Given the description of an element on the screen output the (x, y) to click on. 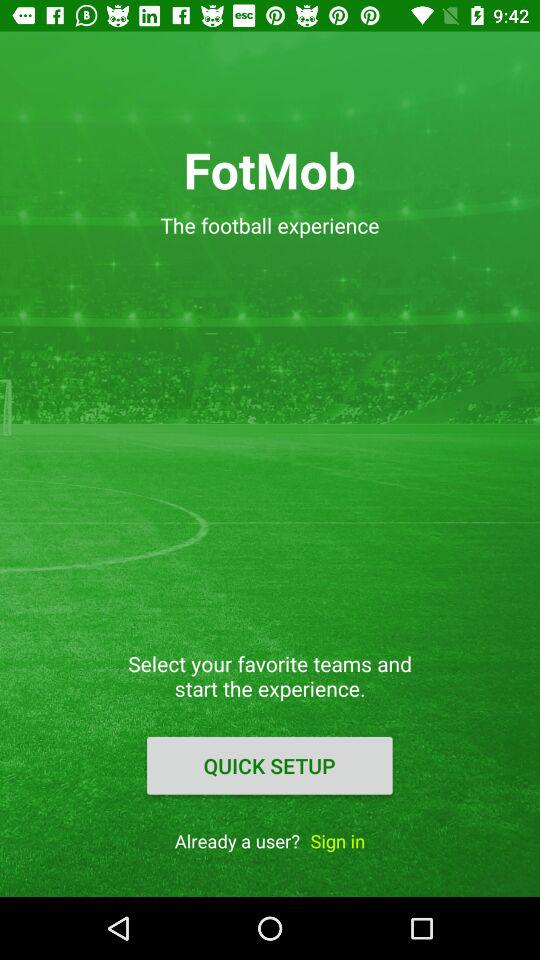
turn off the quick setup item (269, 765)
